Given the description of an element on the screen output the (x, y) to click on. 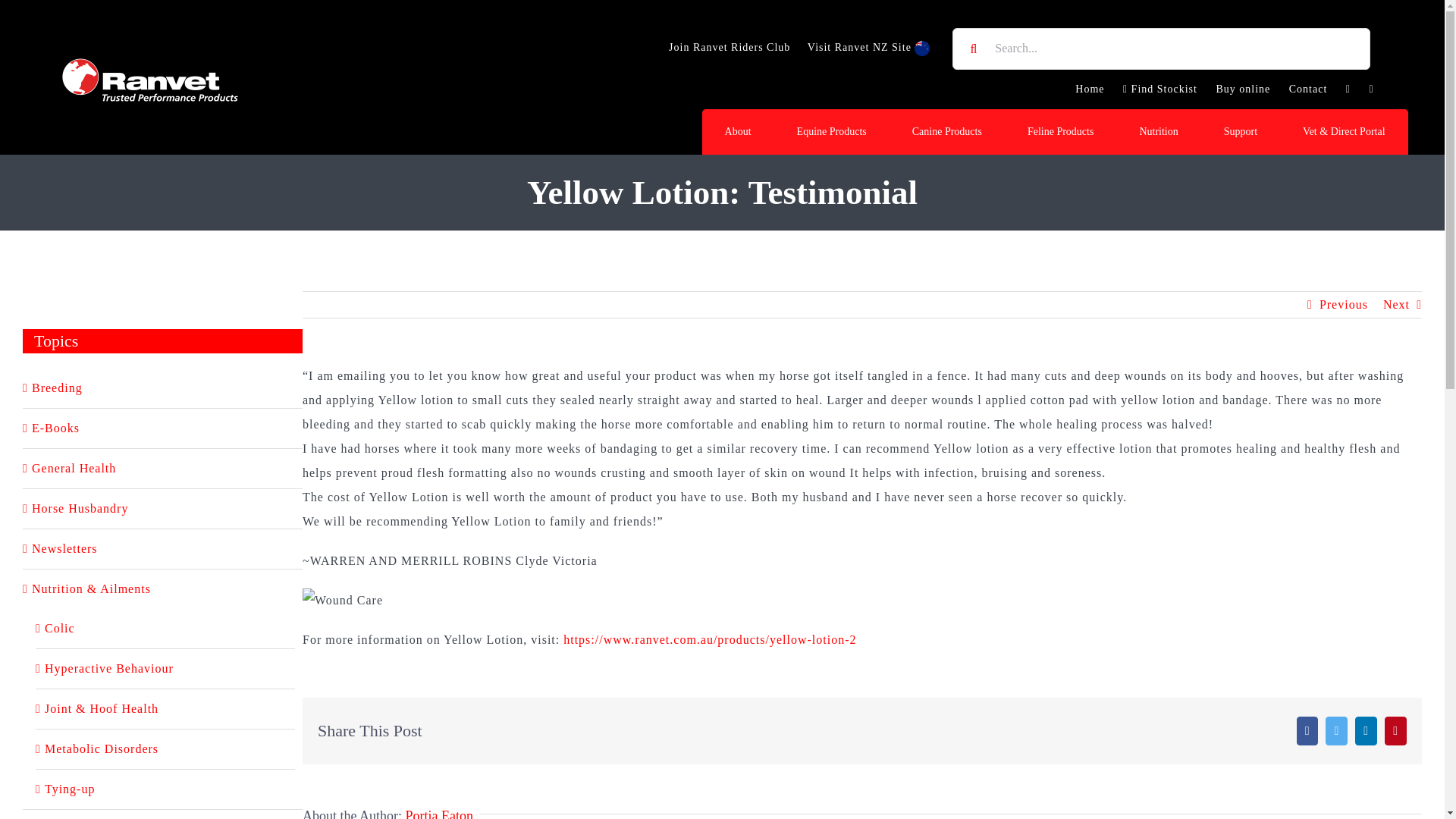
Join Ranvet Riders Club (729, 47)
Home (1089, 88)
Contact (1308, 88)
Find Stockist (1160, 88)
About (737, 131)
Visit Ranvet NZ Site (869, 47)
Posts by Portia Eaton (437, 813)
Equine Products (831, 131)
Buy online (1243, 88)
